Given the description of an element on the screen output the (x, y) to click on. 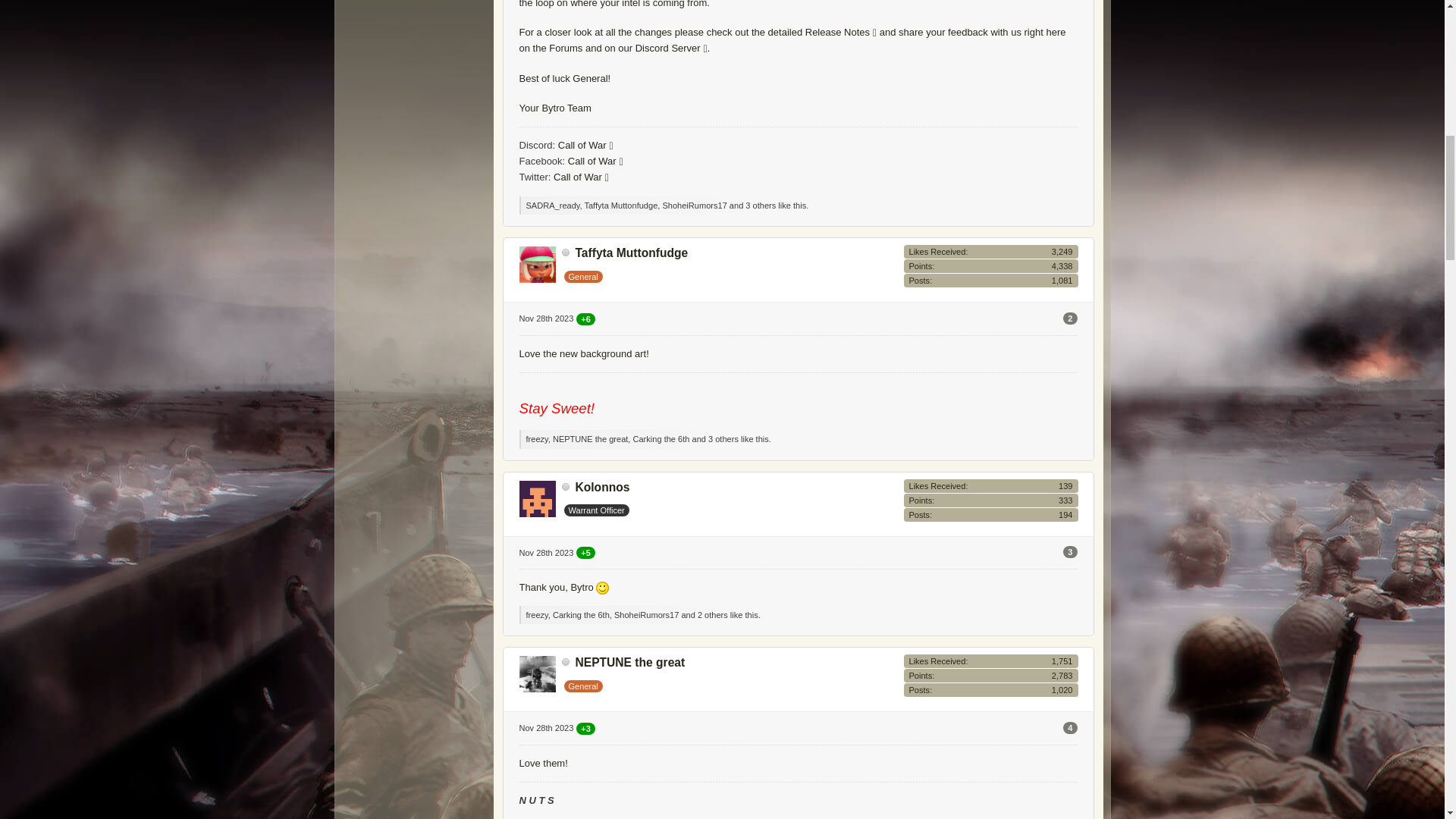
Nov 28th 2023, 3:46pm (545, 727)
Nov 28th 2023, 3:46pm (545, 552)
detailed Release Notes (822, 31)
NEPTUNE the great is online (565, 661)
Taffyta Muttonfudge is online (565, 252)
Nov 28th 2023, 3:38pm (545, 317)
Kolonnos is online (565, 486)
Discord Server (670, 48)
Call of War (584, 144)
